Given the description of an element on the screen output the (x, y) to click on. 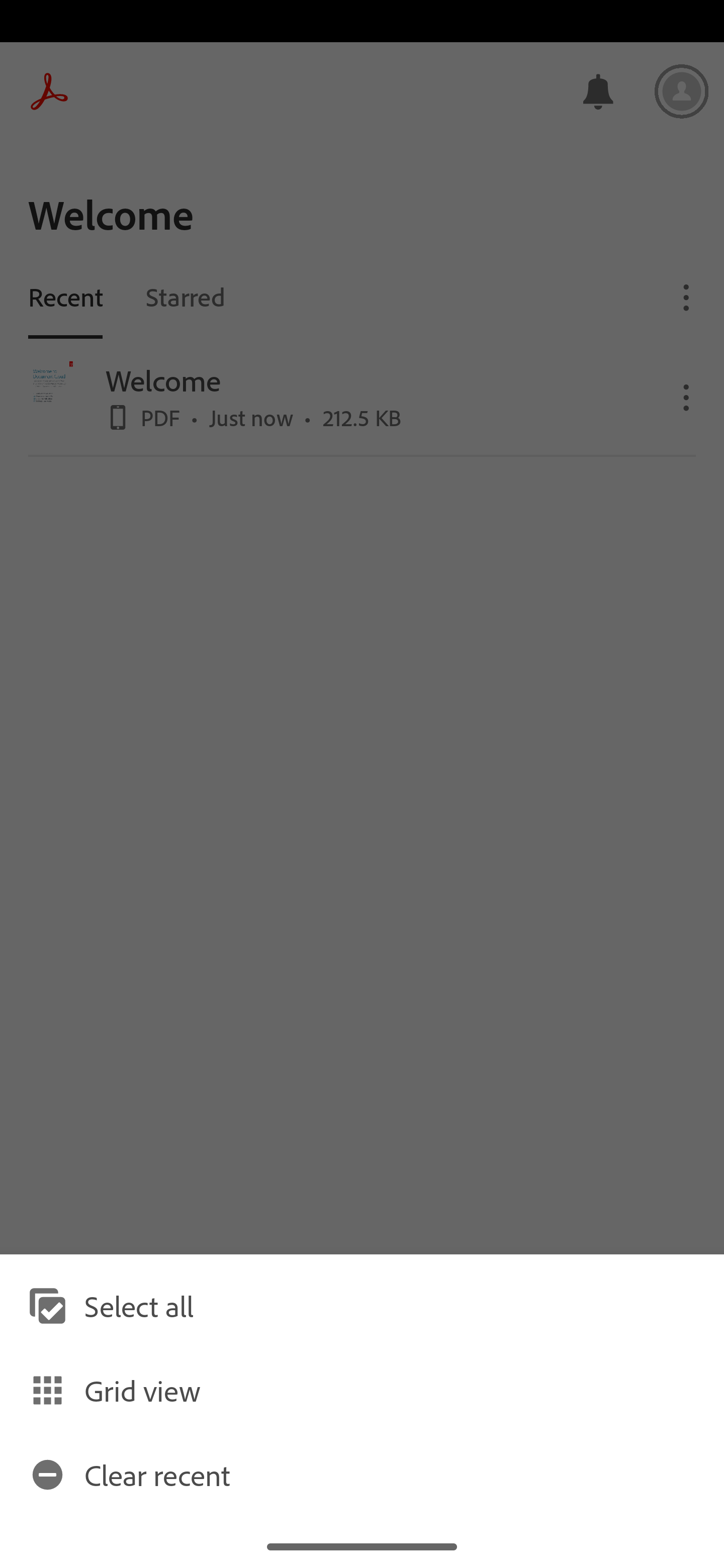
Select all (362, 1305)
Grid view (362, 1389)
Clear recent (362, 1473)
